Given the description of an element on the screen output the (x, y) to click on. 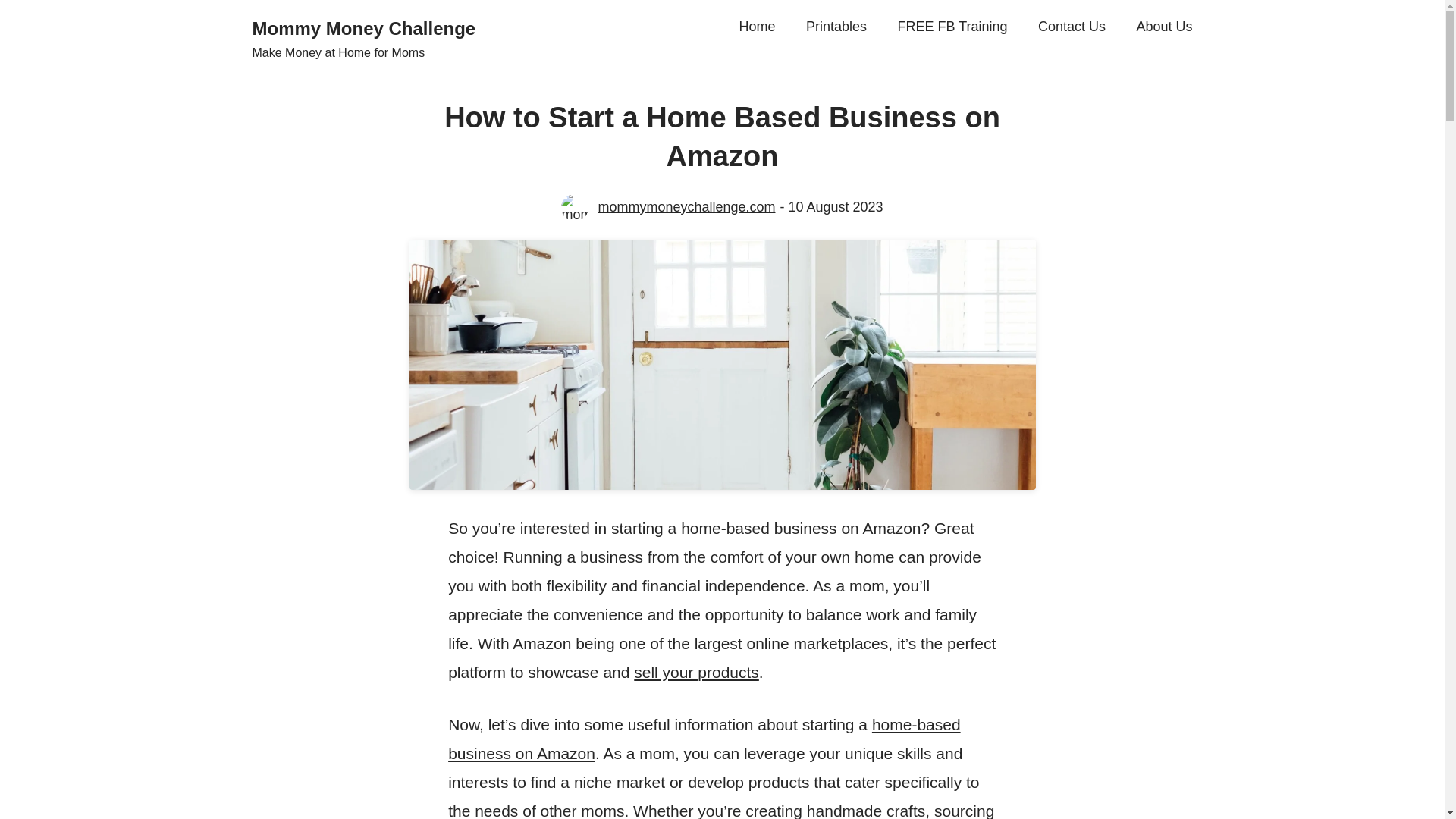
Printables (836, 27)
Home (756, 27)
Mommy Money Challenge (363, 28)
mommymoneychallenge.com (685, 208)
sell your products (695, 671)
FREE FB Training (951, 27)
home-based business on Amazon (704, 738)
Contact Us (1071, 27)
About Us (1163, 27)
